Given the description of an element on the screen output the (x, y) to click on. 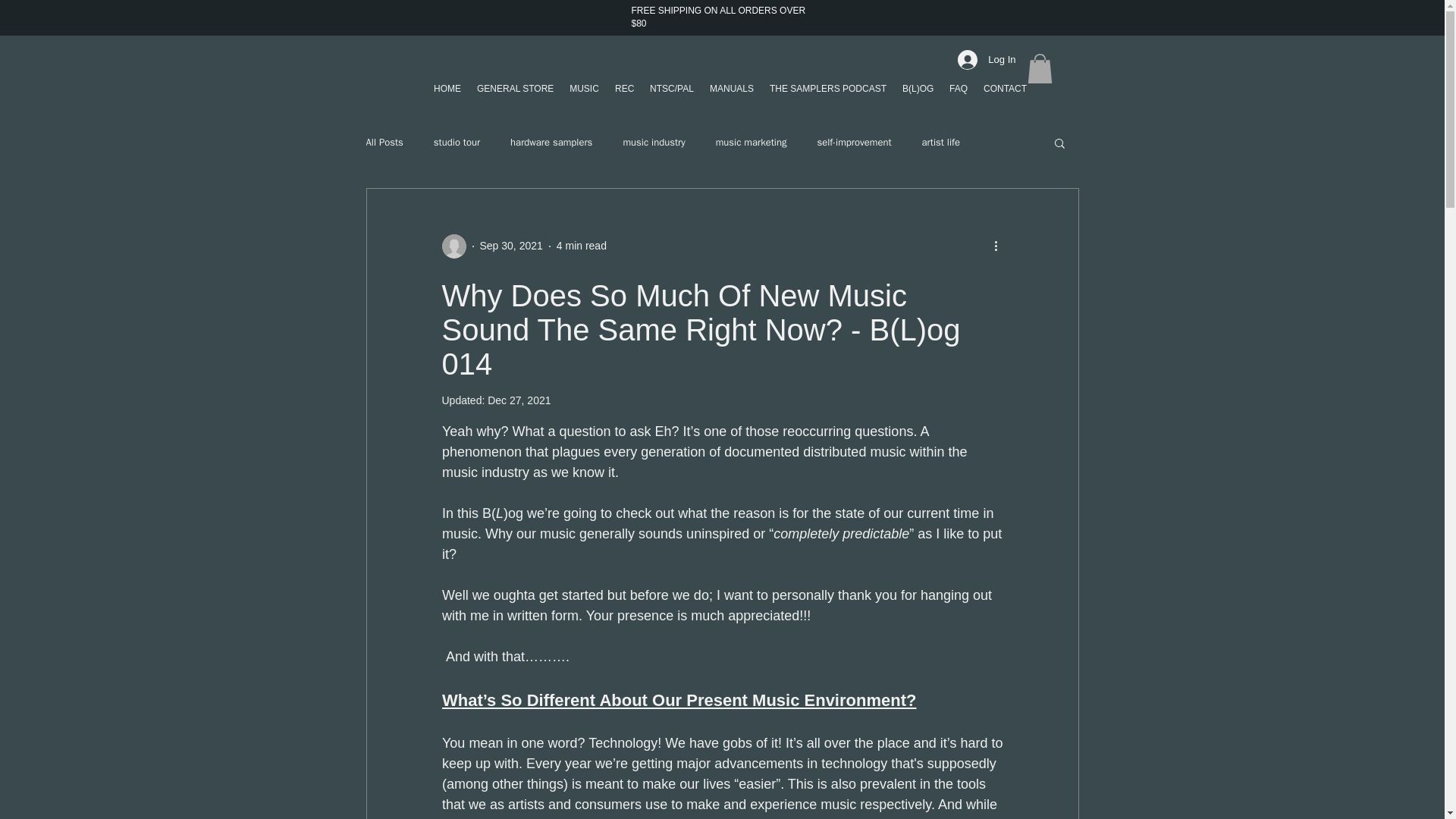
REC (624, 88)
GENERAL STORE (514, 88)
CONTACT (1004, 88)
Log In (986, 59)
Dec 27, 2021 (518, 399)
All Posts (384, 142)
MANUALS (731, 88)
HOME (447, 88)
self-improvement (853, 142)
THE SAMPLERS PODCAST (827, 88)
artist life (940, 142)
hardware samplers (551, 142)
Sep 30, 2021 (510, 245)
music industry (653, 142)
4 min read (581, 245)
